Given the description of an element on the screen output the (x, y) to click on. 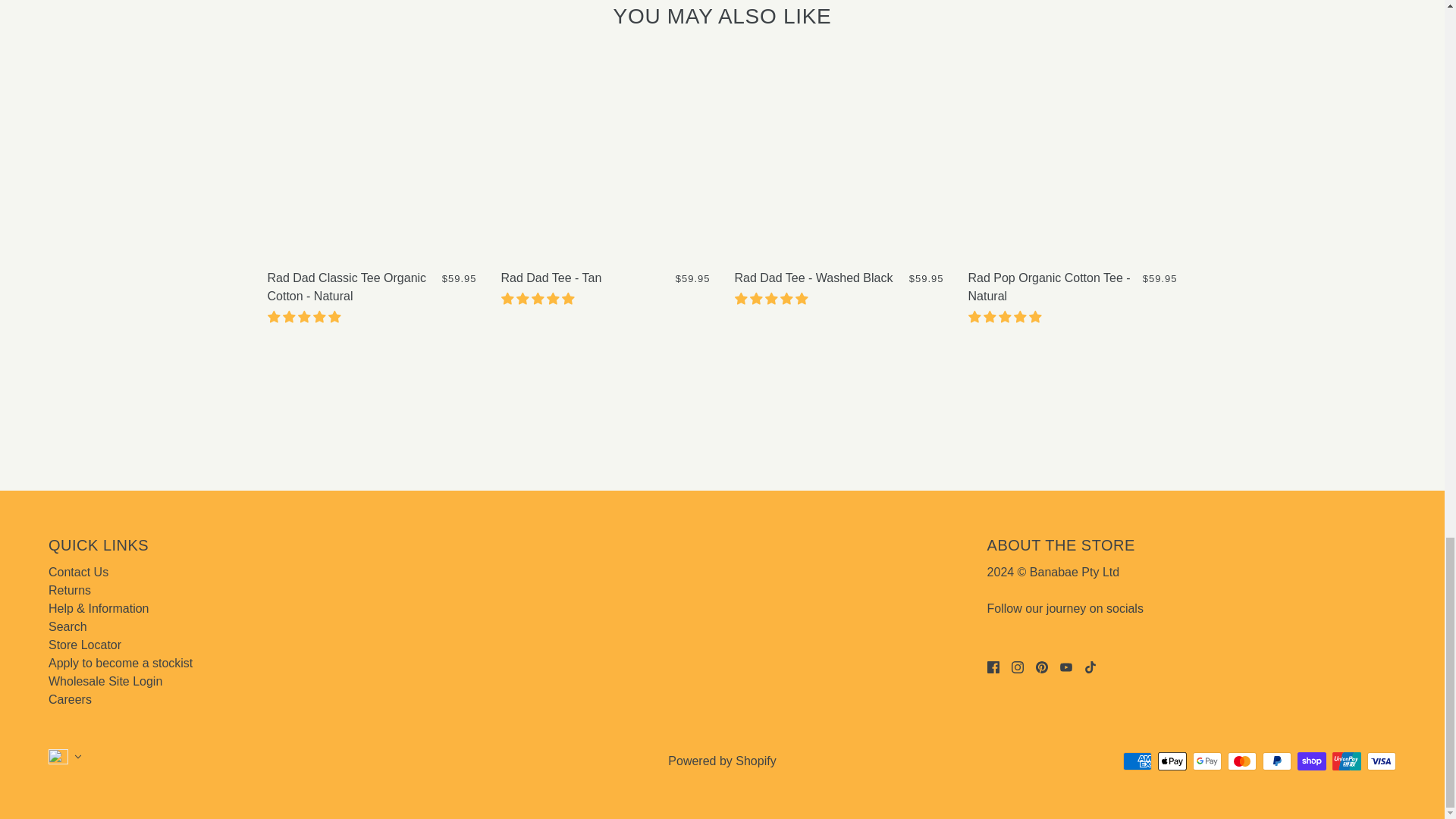
Store Locator (84, 644)
Google Pay (1206, 761)
American Express (1136, 761)
Careers (69, 698)
Apply to become a stockist (120, 662)
Wholesale Site Login (104, 680)
Returns (69, 590)
Apple Pay (1171, 761)
Contact Us (77, 571)
